Given the description of an element on the screen output the (x, y) to click on. 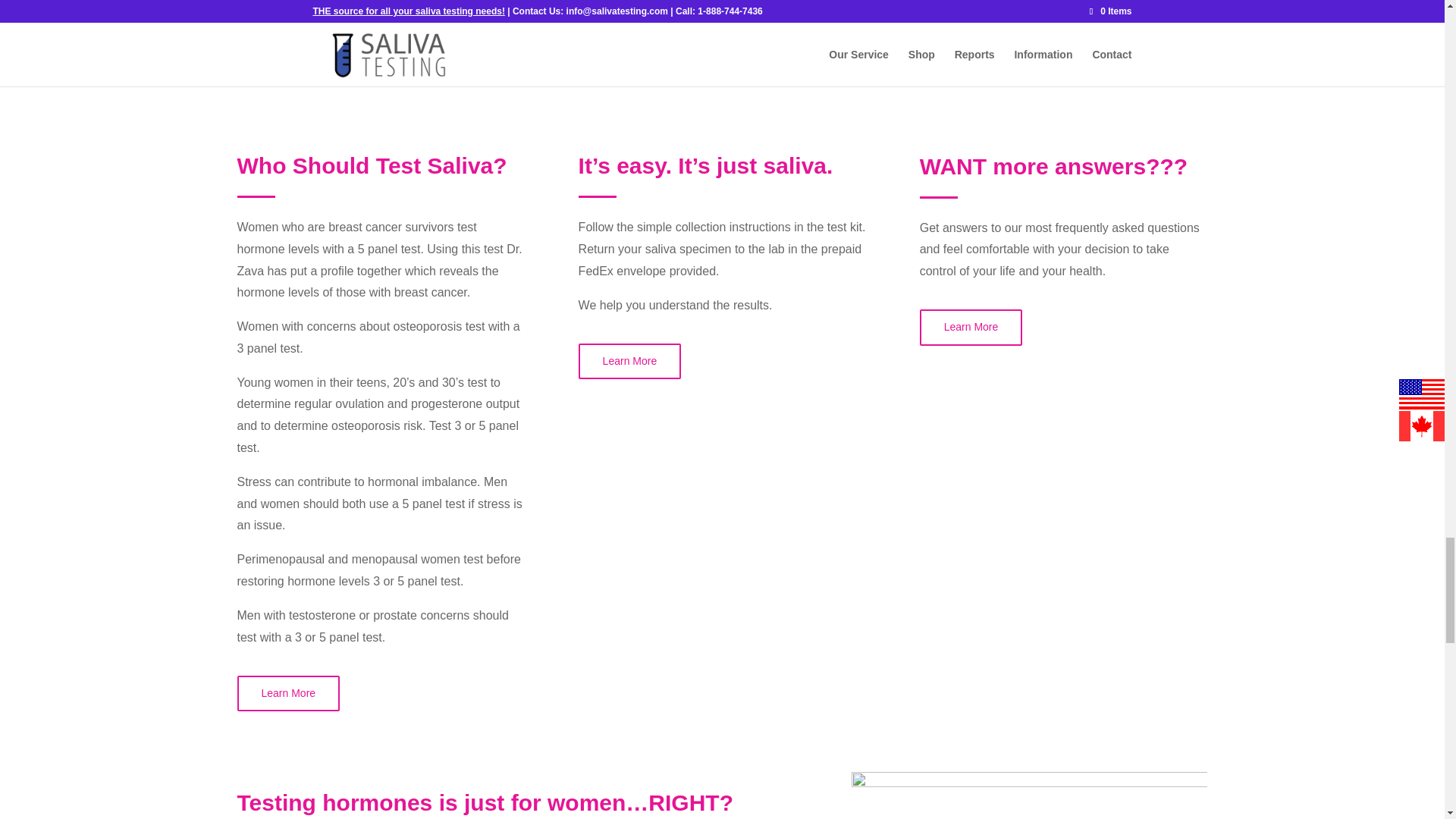
Learn More (629, 361)
Learn More (287, 693)
Learn More (971, 327)
manquestioning (1029, 795)
